Given the description of an element on the screen output the (x, y) to click on. 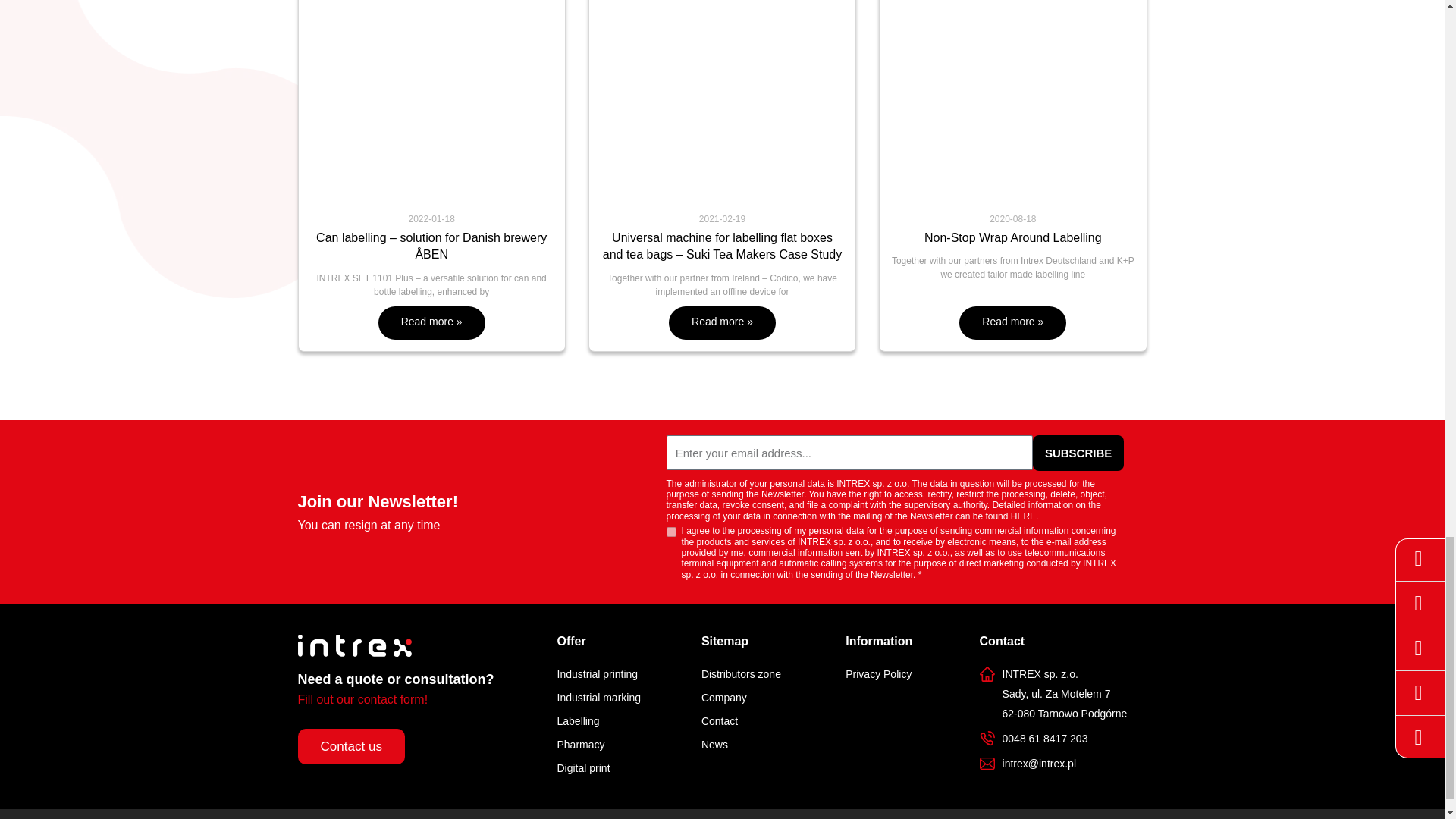
on (670, 532)
